Given the description of an element on the screen output the (x, y) to click on. 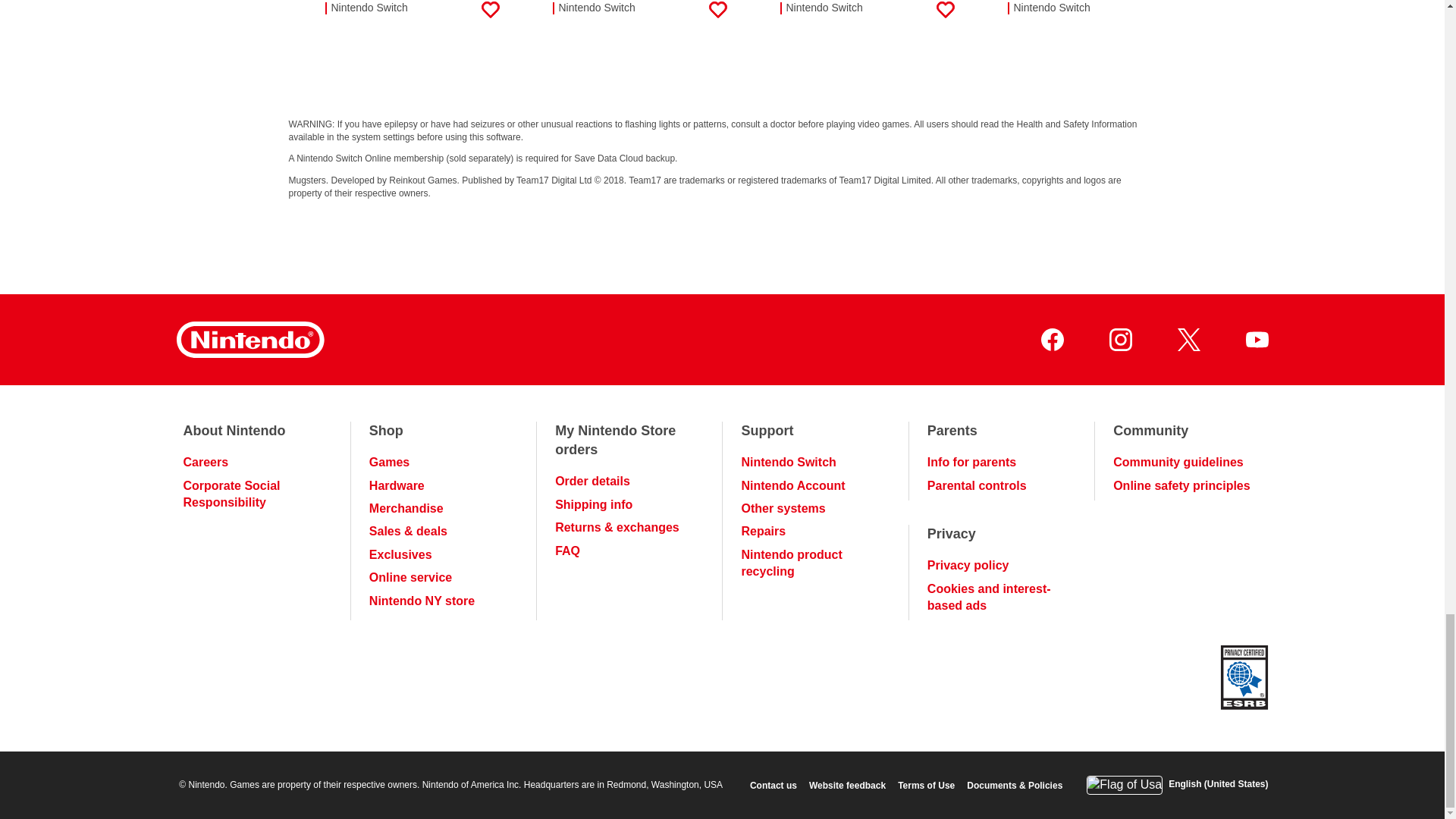
Add to Wish List (944, 15)
Nintendo on Instagram (1119, 339)
Nintendo Homepage (249, 339)
Add to Wish List (489, 15)
Add to Wish List (1172, 15)
Nintendo on Facebook (1051, 339)
Add to Wish List (716, 15)
